Given the description of an element on the screen output the (x, y) to click on. 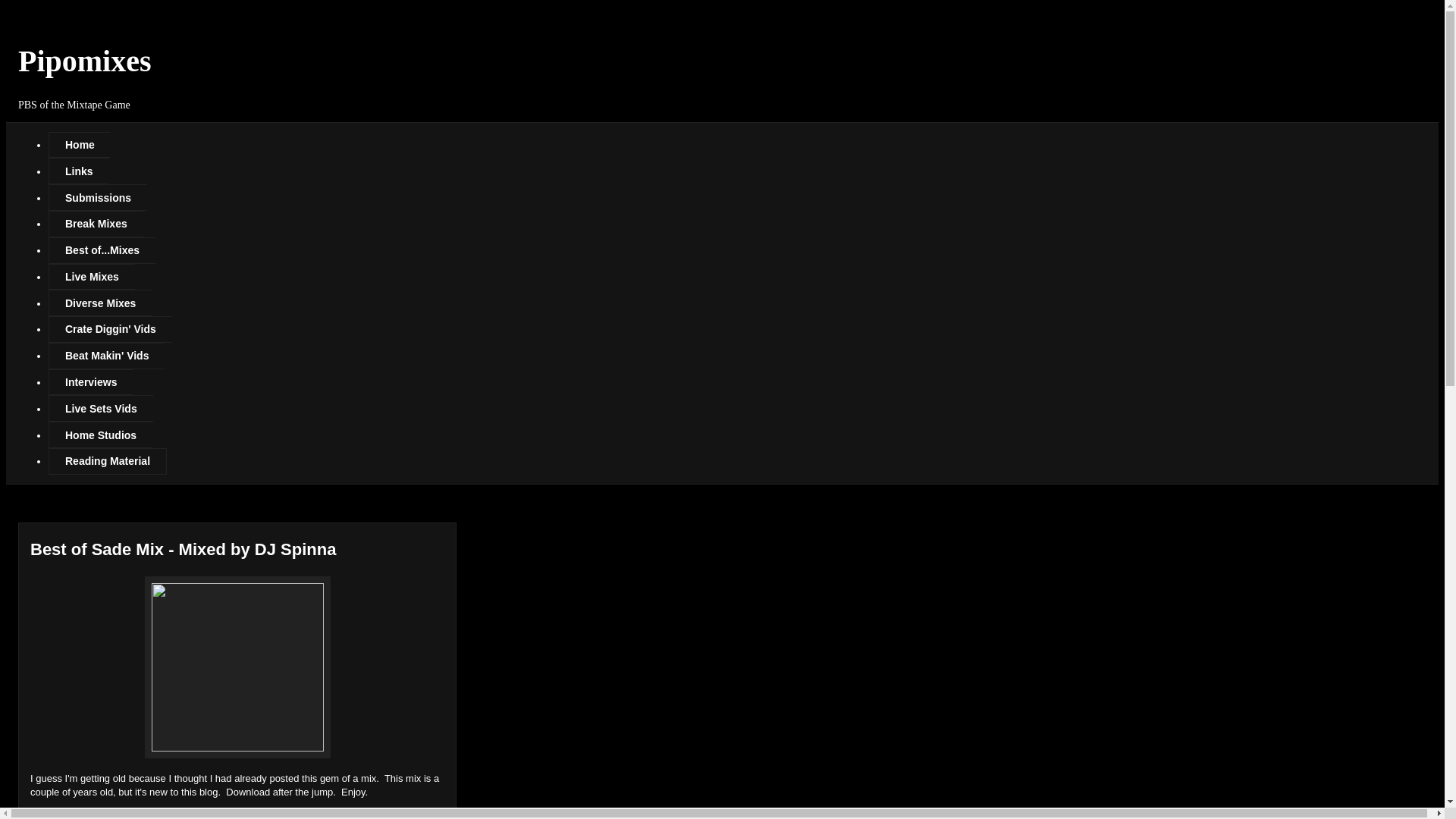
Break Mixes (95, 223)
Diverse Mixes (99, 302)
Interviews (90, 382)
Live Mixes (91, 276)
Crate Diggin' Vids (109, 329)
Pipomixes (84, 60)
Reading Material (107, 461)
Best of...Mixes (101, 250)
Home (79, 144)
Links (78, 171)
Home Studios (100, 434)
Beat Makin' Vids (106, 356)
Submissions (97, 197)
Live Sets Vids (100, 407)
